Given the description of an element on the screen output the (x, y) to click on. 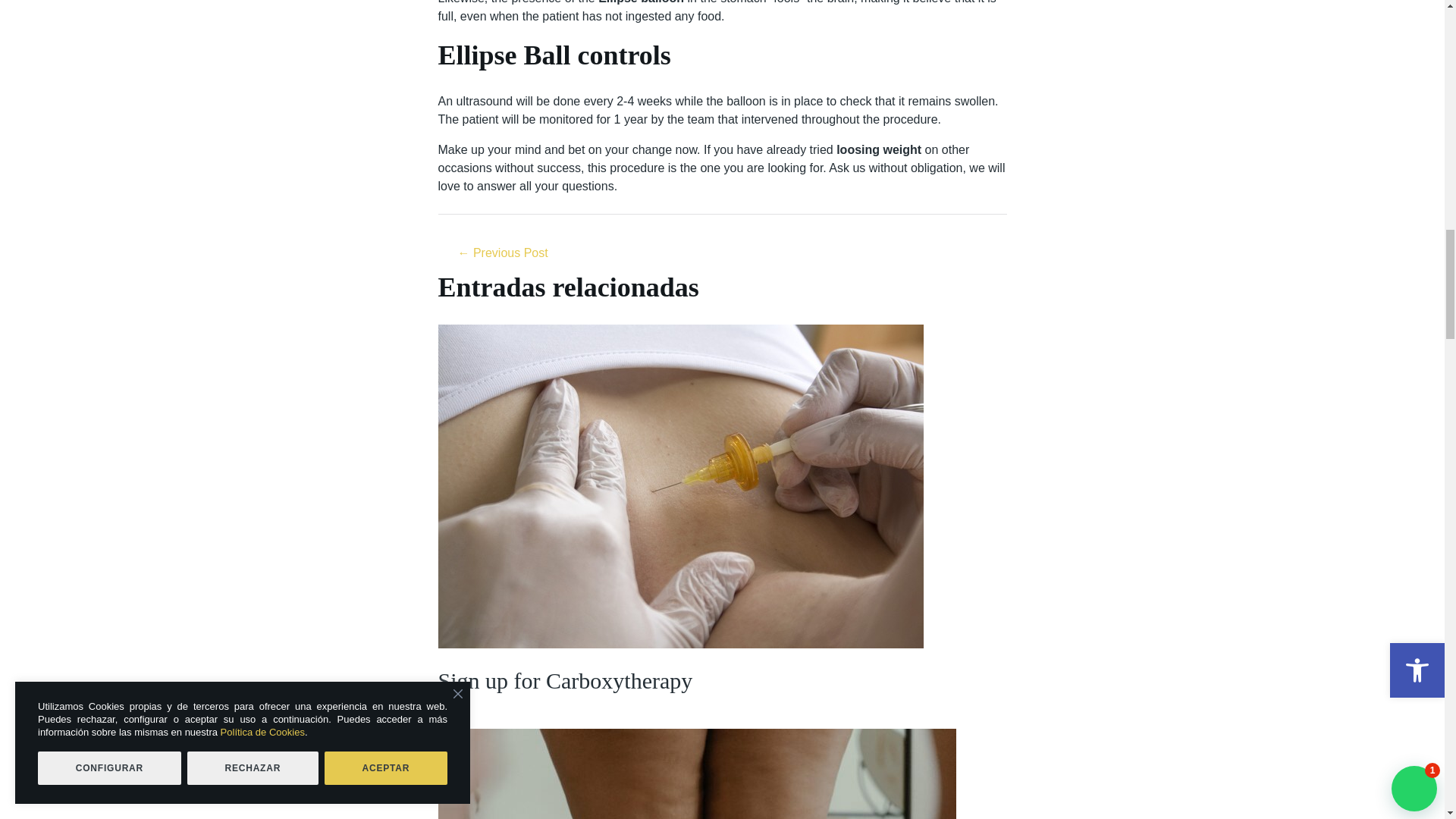
Sign up for Carboxytherapy (502, 254)
